Given the description of an element on the screen output the (x, y) to click on. 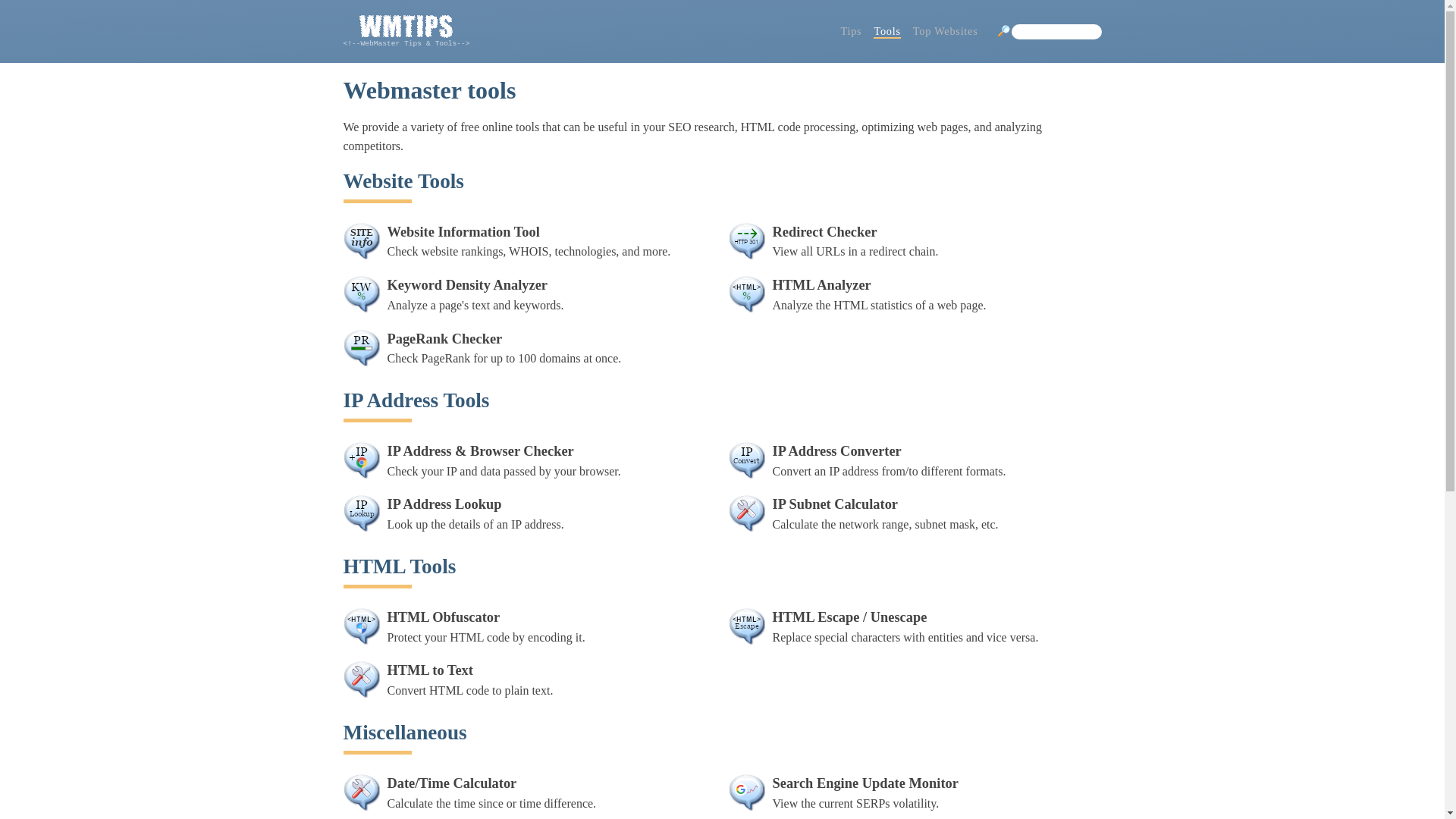
Tools (529, 296)
Tips (529, 682)
